Given the description of an element on the screen output the (x, y) to click on. 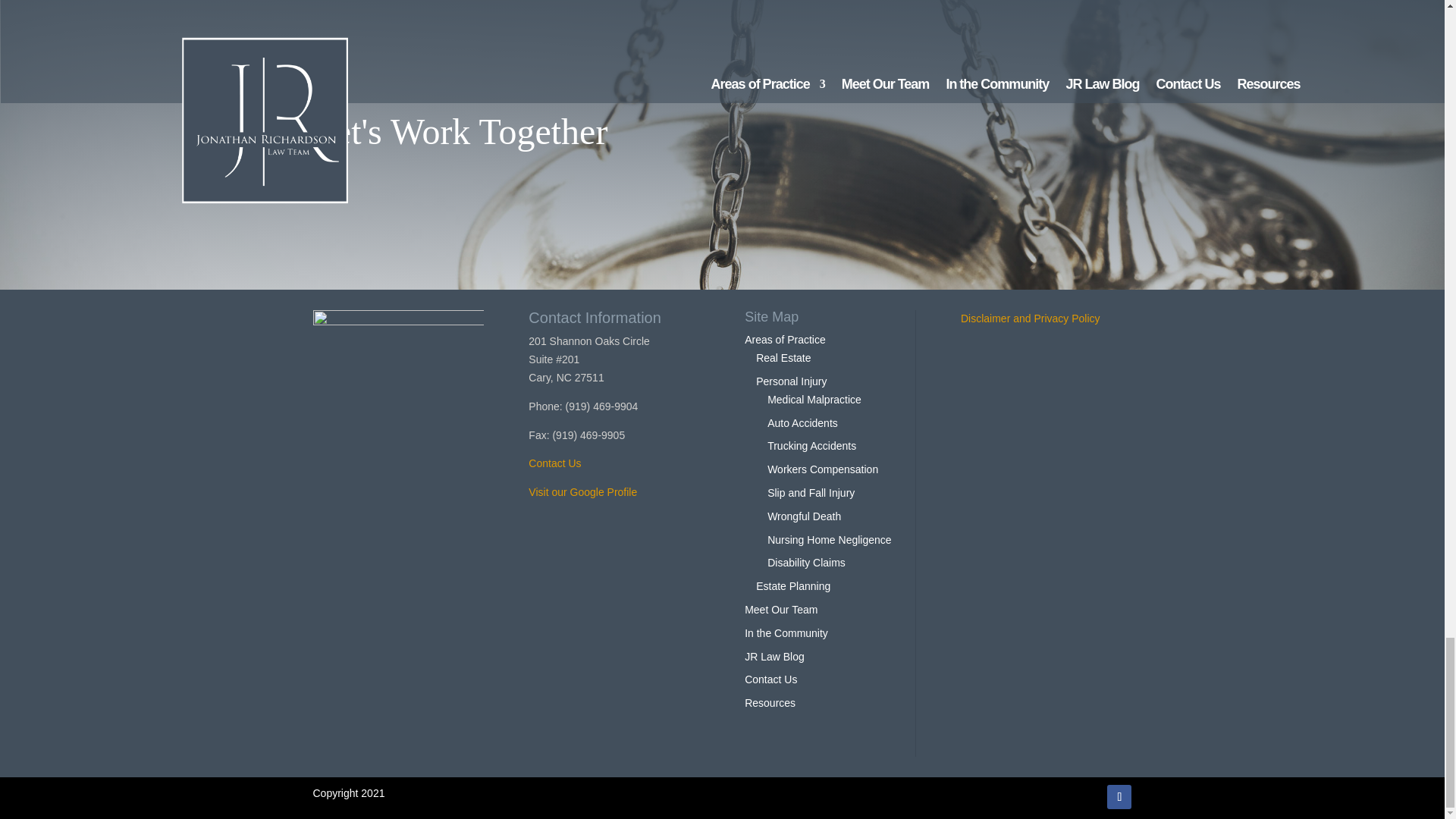
Follow on Facebook (1118, 796)
JR law team new logo v6 (398, 395)
Contact Us (554, 463)
